Given the description of an element on the screen output the (x, y) to click on. 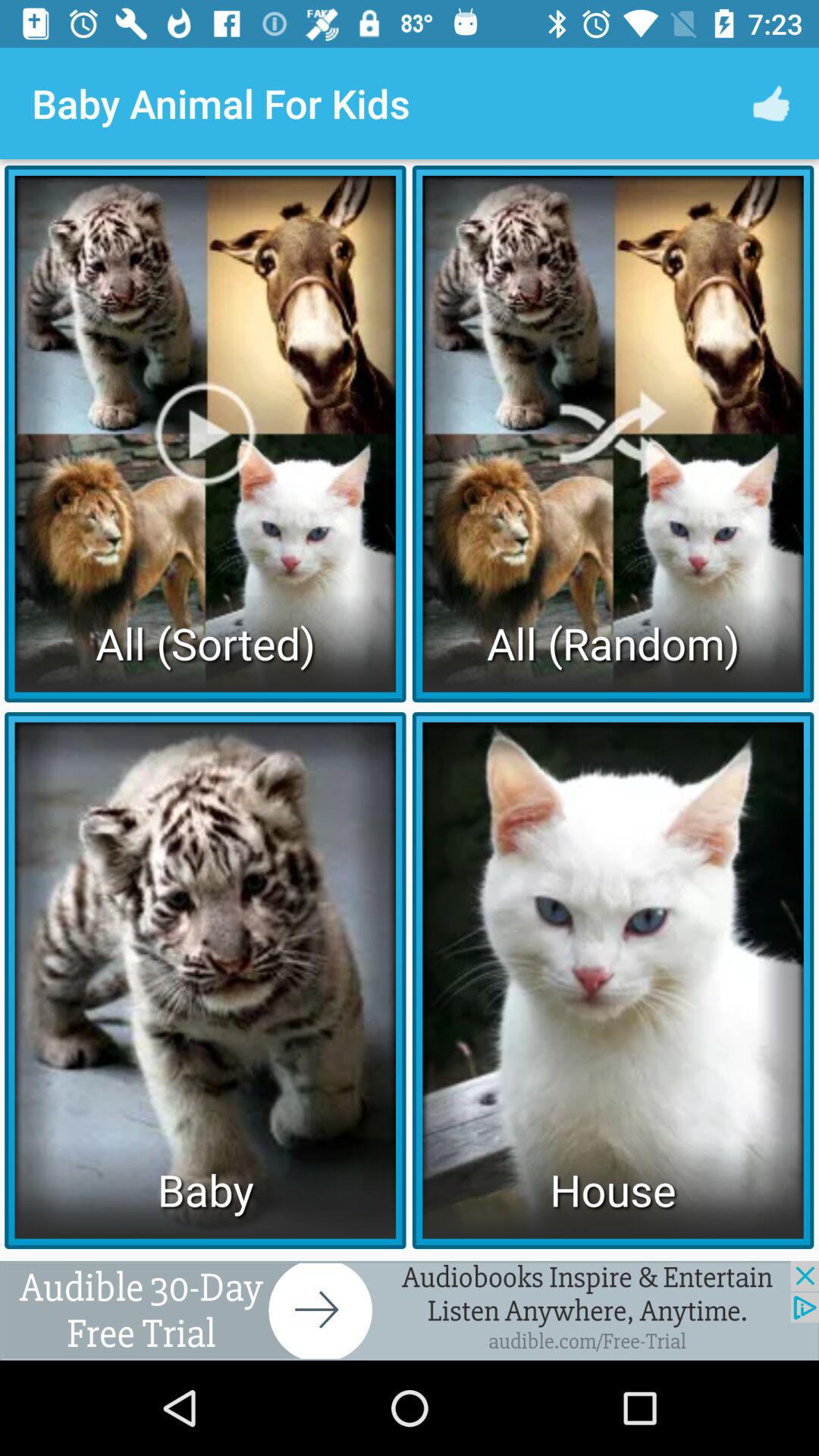
advertisement (409, 1310)
